Given the description of an element on the screen output the (x, y) to click on. 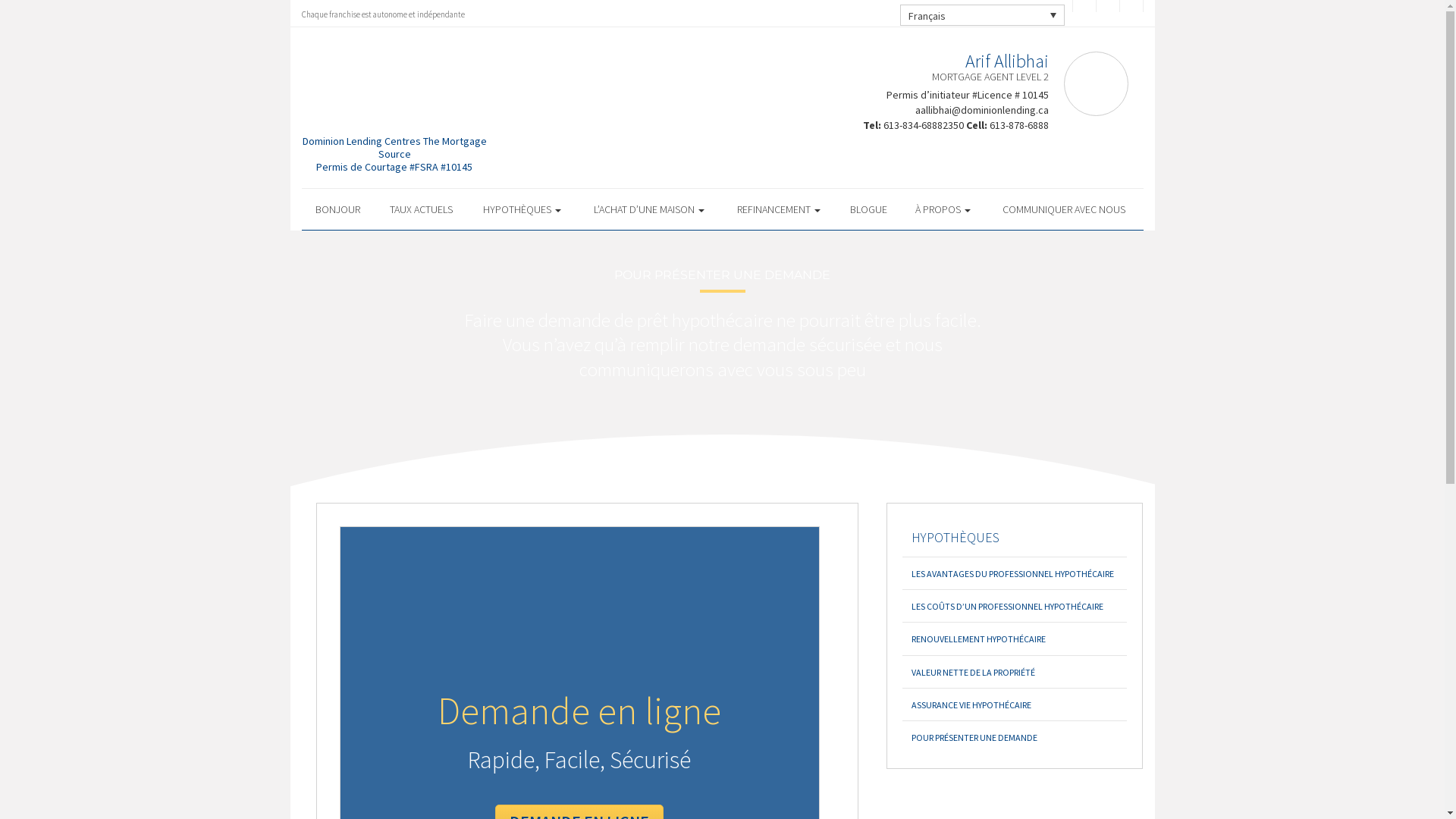
COMMUNIQUER AVEC NOUS Element type: text (1064, 208)
aallibhai@dominionlending.ca Element type: text (981, 109)
BLOGUE Element type: text (867, 208)
TAUX ACTUELS Element type: text (420, 208)
REFINANCEMENT Element type: text (778, 208)
613-834-68882350 Element type: text (922, 124)
613-878-6888 Element type: text (1018, 124)
BONJOUR Element type: text (337, 208)
